Given the description of an element on the screen output the (x, y) to click on. 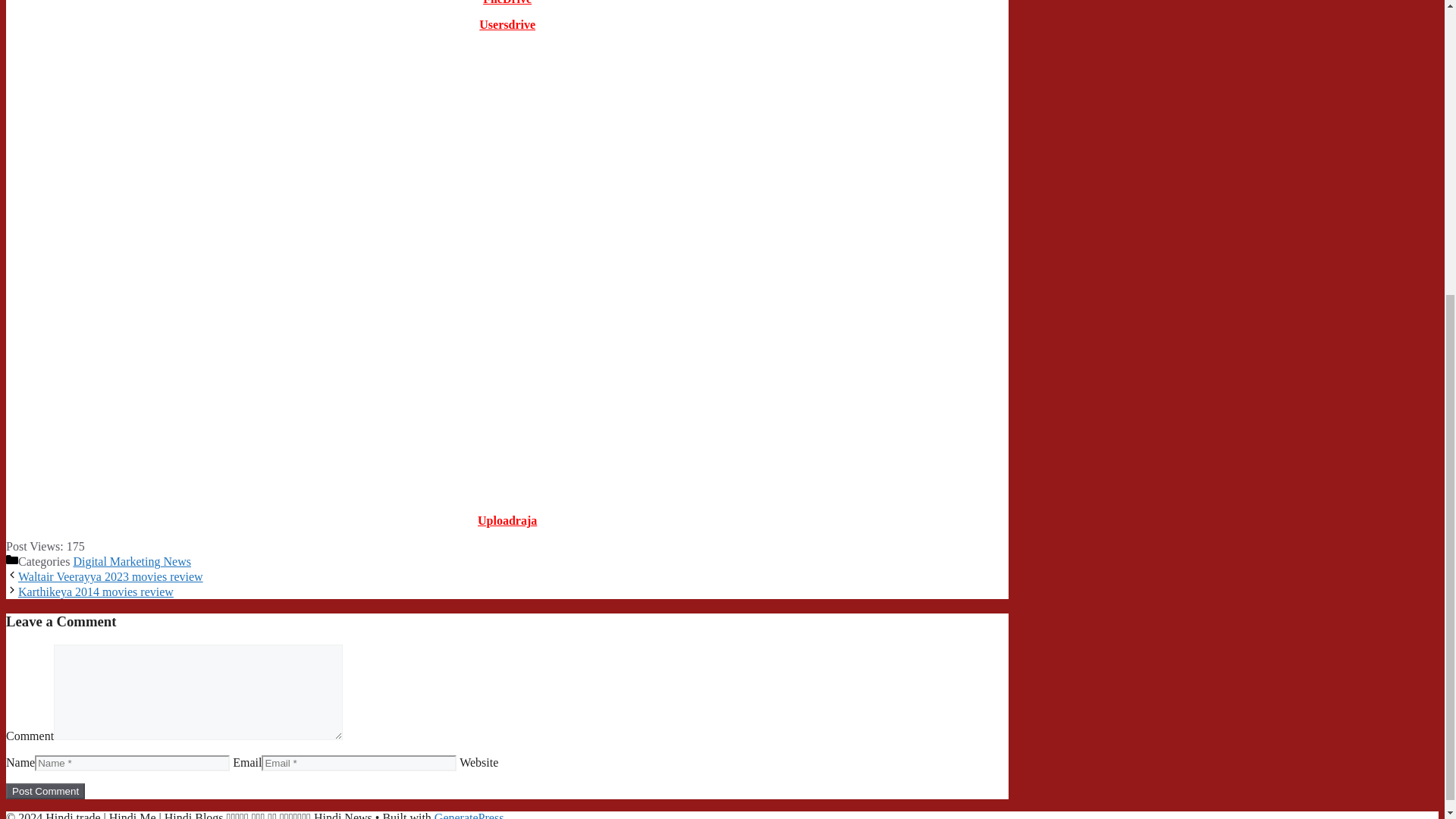
FileDrive (507, 2)
Waltair Veerayya 2023 movies review (110, 576)
Post Comment (44, 790)
Karthikeya 2014 movies review (95, 591)
Digital Marketing News (131, 561)
Uploadraja (507, 520)
Post Comment (44, 790)
Usersdrive (507, 24)
